Given the description of an element on the screen output the (x, y) to click on. 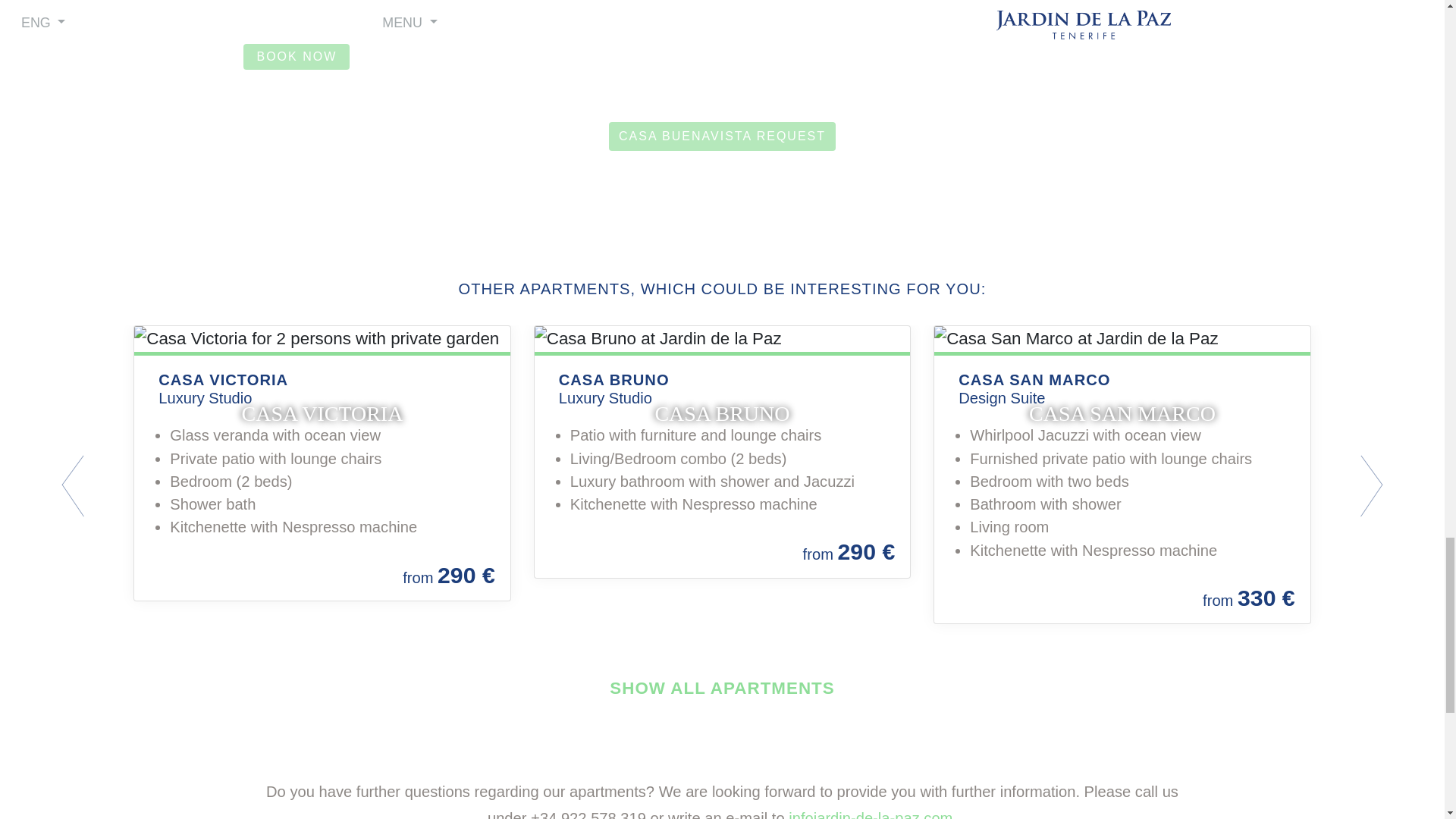
Casa Bruno at Jardin de la Paz (722, 338)
Casa San Marco at Jardin de la Paz (1121, 338)
Casa Victoria: Luxury Studio with Sea View (321, 338)
